Given the description of an element on the screen output the (x, y) to click on. 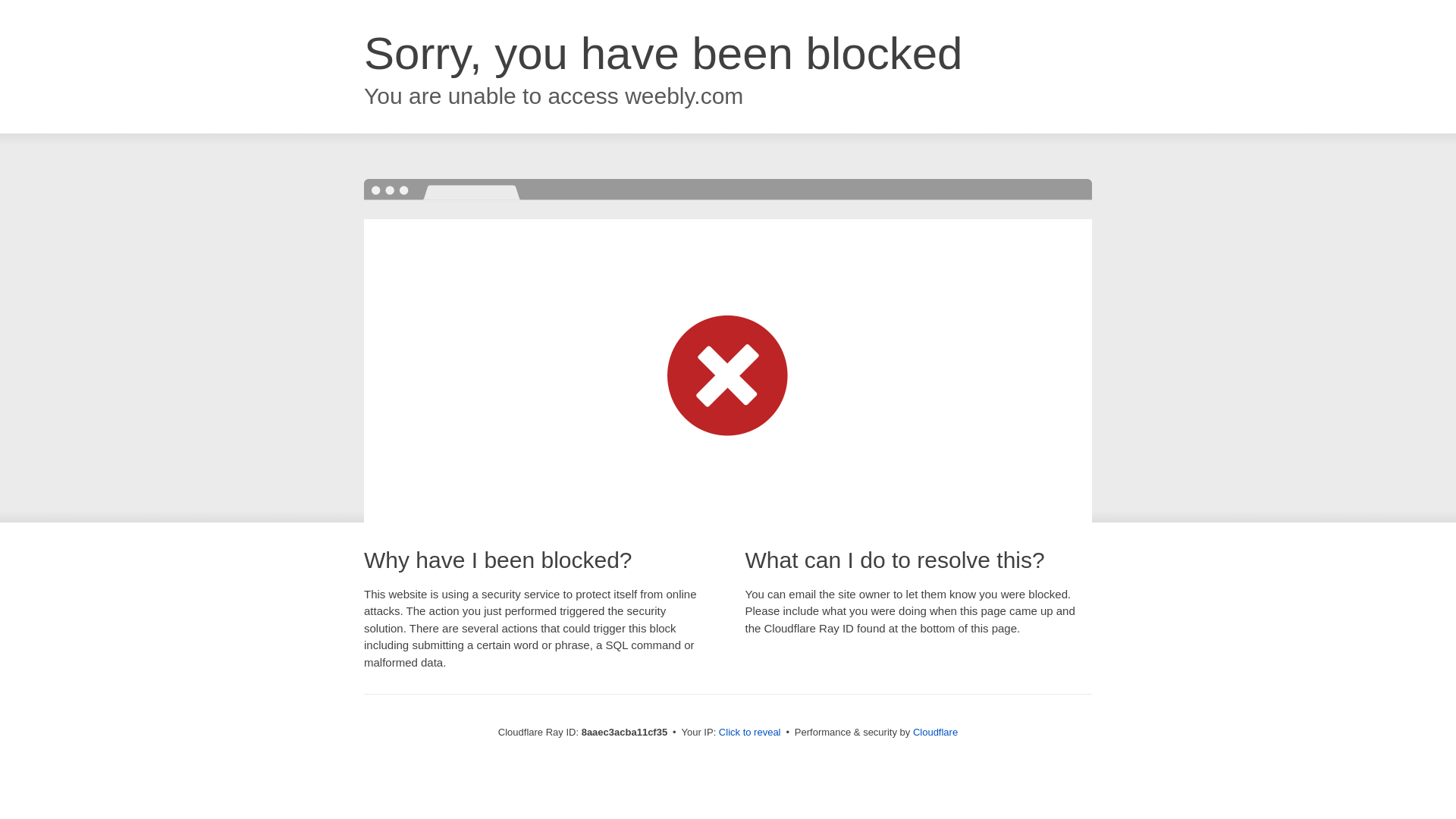
Click to reveal (749, 732)
Cloudflare (935, 731)
